Given the description of an element on the screen output the (x, y) to click on. 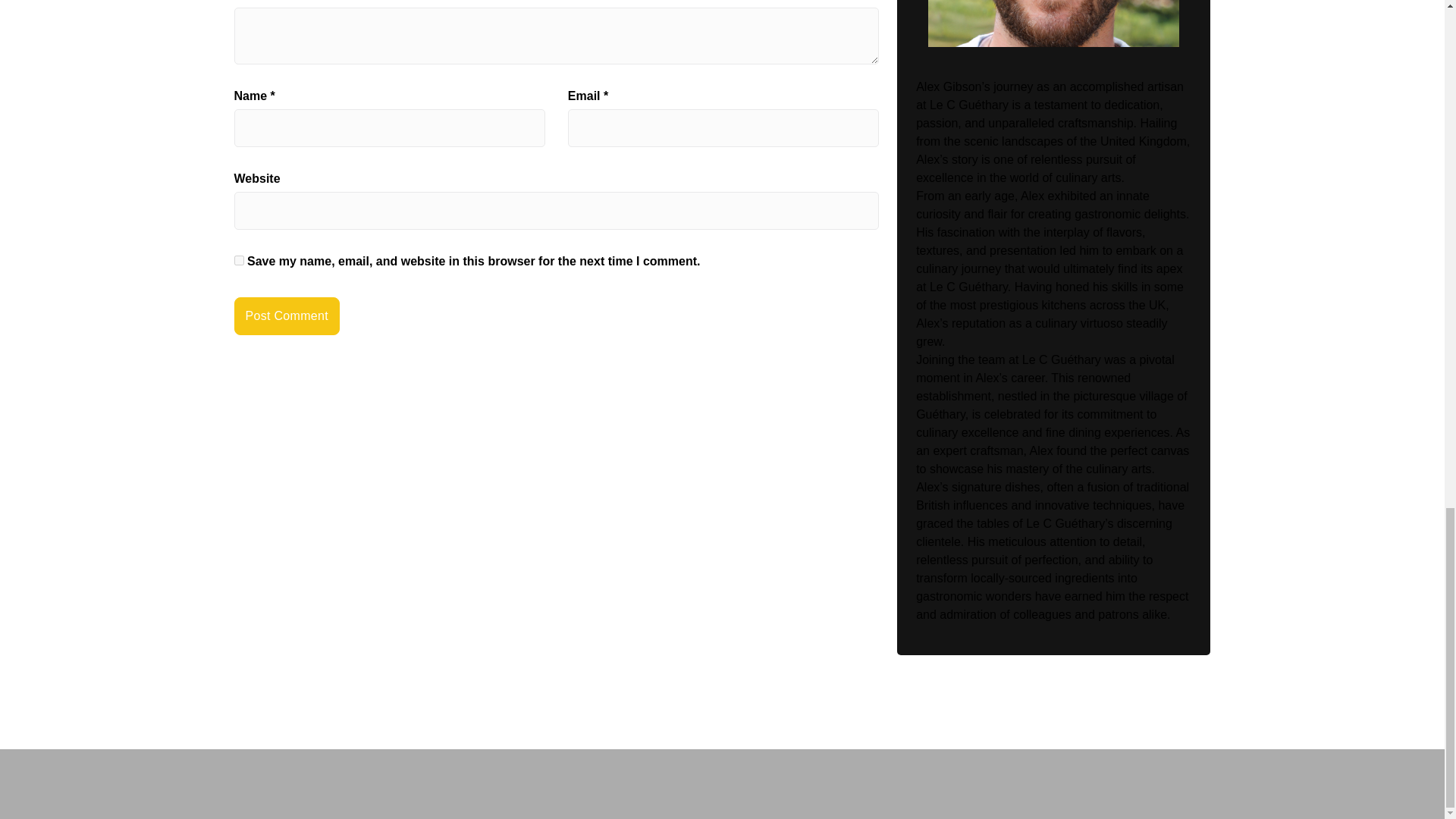
Post Comment (285, 315)
Post Comment (285, 315)
yes (237, 260)
